Given the description of an element on the screen output the (x, y) to click on. 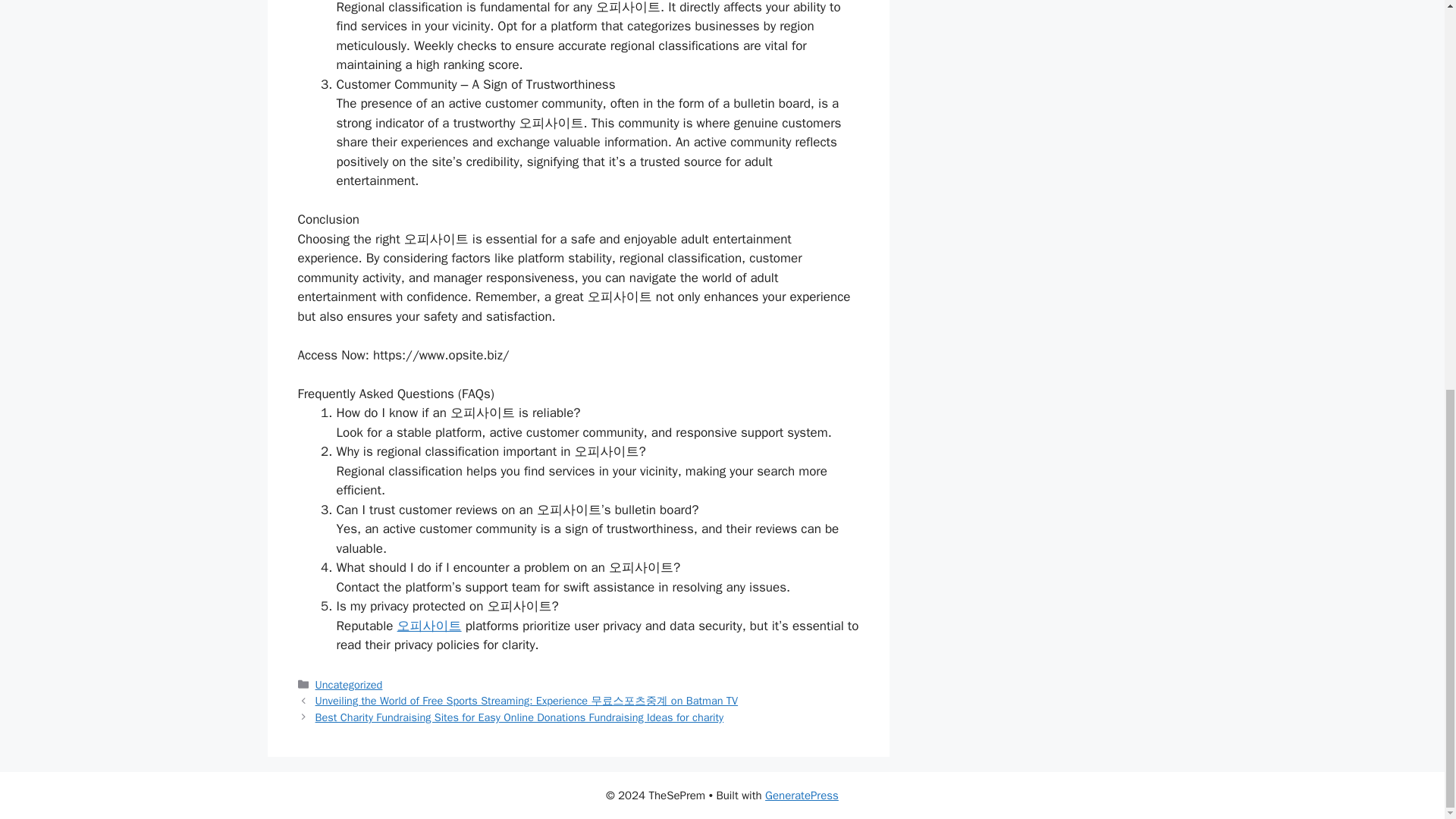
Uncategorized (348, 684)
GeneratePress (801, 795)
